Given the description of an element on the screen output the (x, y) to click on. 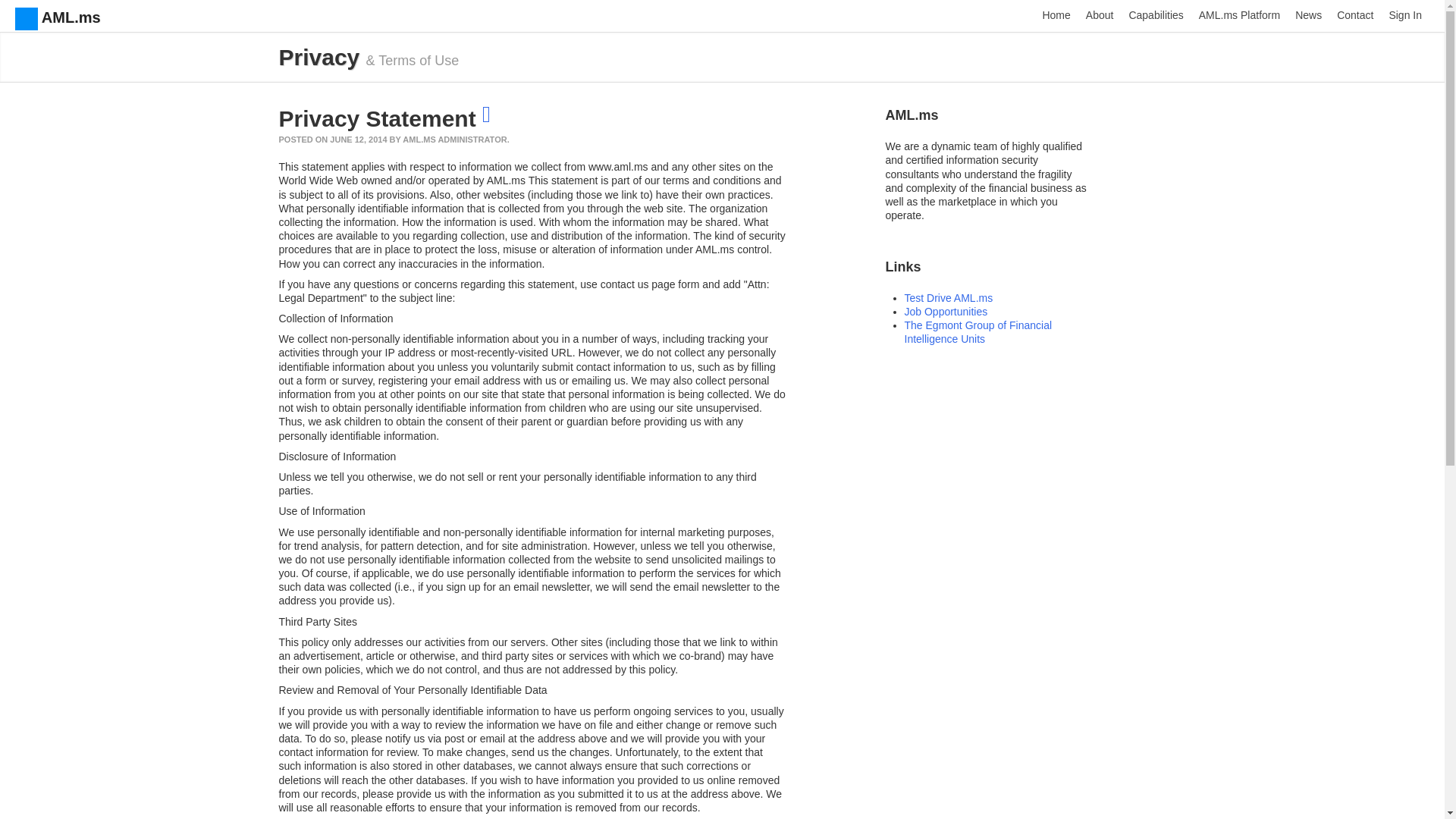
Capabilities (1156, 15)
News (1308, 15)
Job Opportunities (945, 311)
Sign In (1404, 15)
Contact (1354, 15)
The Egmont Group of Financial Intelligence Units (977, 331)
About (1099, 15)
AML.ms (50, 15)
AML.ms Platform (1239, 15)
Home (1055, 15)
